Given the description of an element on the screen output the (x, y) to click on. 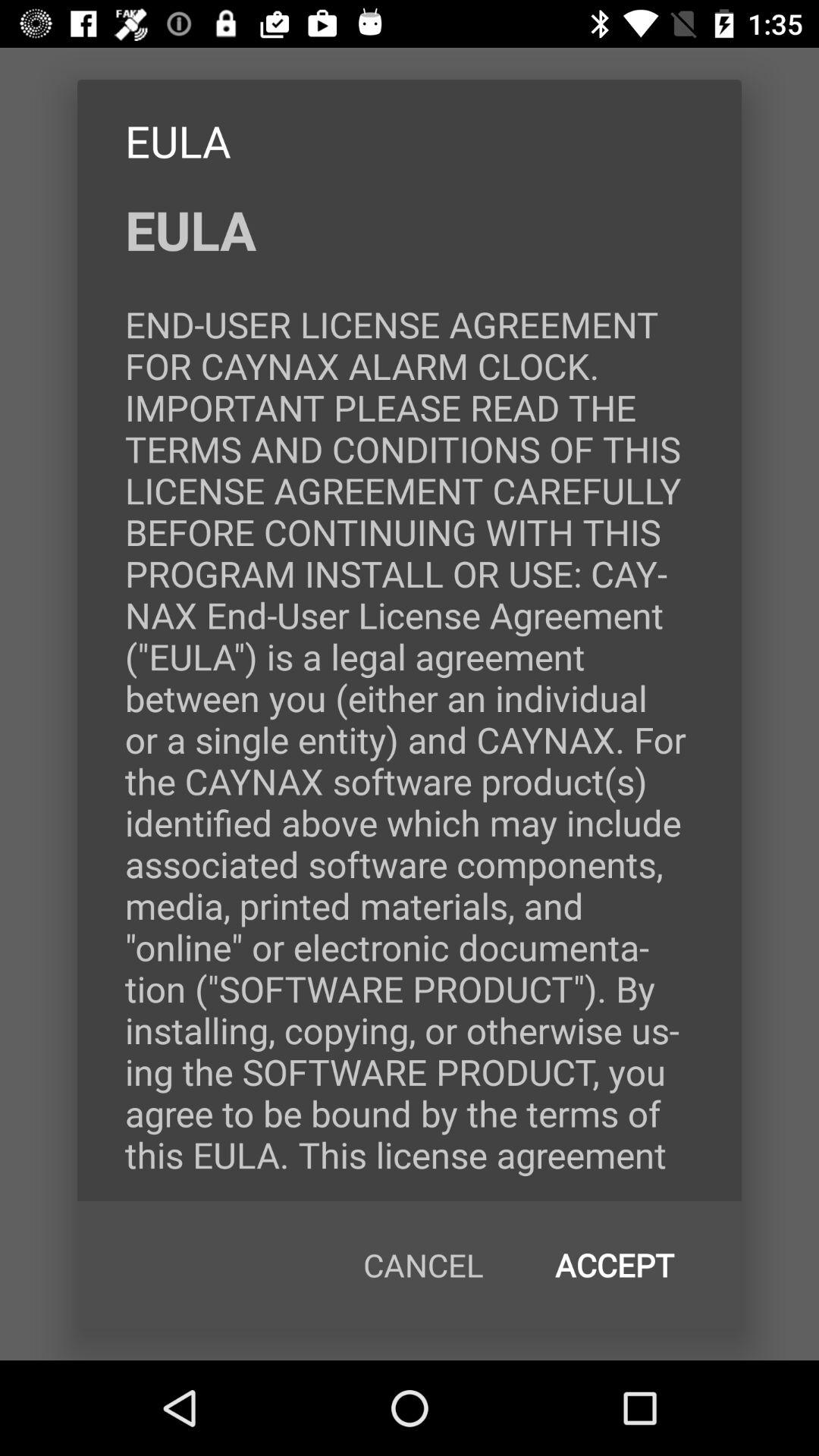
swipe to the cancel (422, 1264)
